Given the description of an element on the screen output the (x, y) to click on. 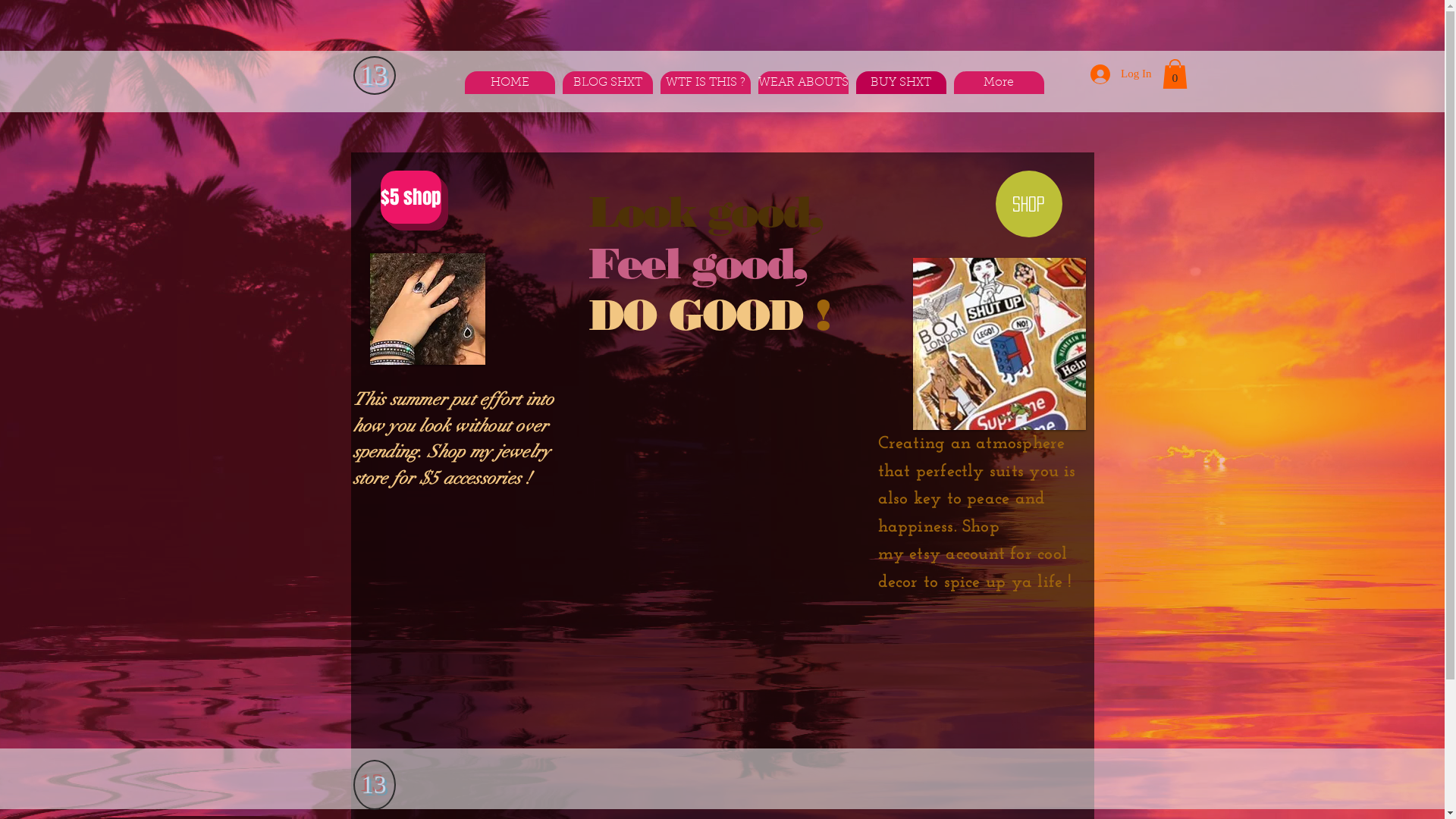
Log In Element type: text (1120, 73)
13 Element type: text (374, 75)
BUY SHXT Element type: text (900, 82)
Shop Element type: text (1027, 203)
WEAR ABOUTS Element type: text (803, 82)
13 Element type: text (372, 784)
WTF IS THIS ? Element type: text (704, 82)
0 Element type: text (1173, 73)
BLOG SHXT Element type: text (607, 82)
$5 shop Element type: text (410, 196)
HOME Element type: text (509, 82)
